Given the description of an element on the screen output the (x, y) to click on. 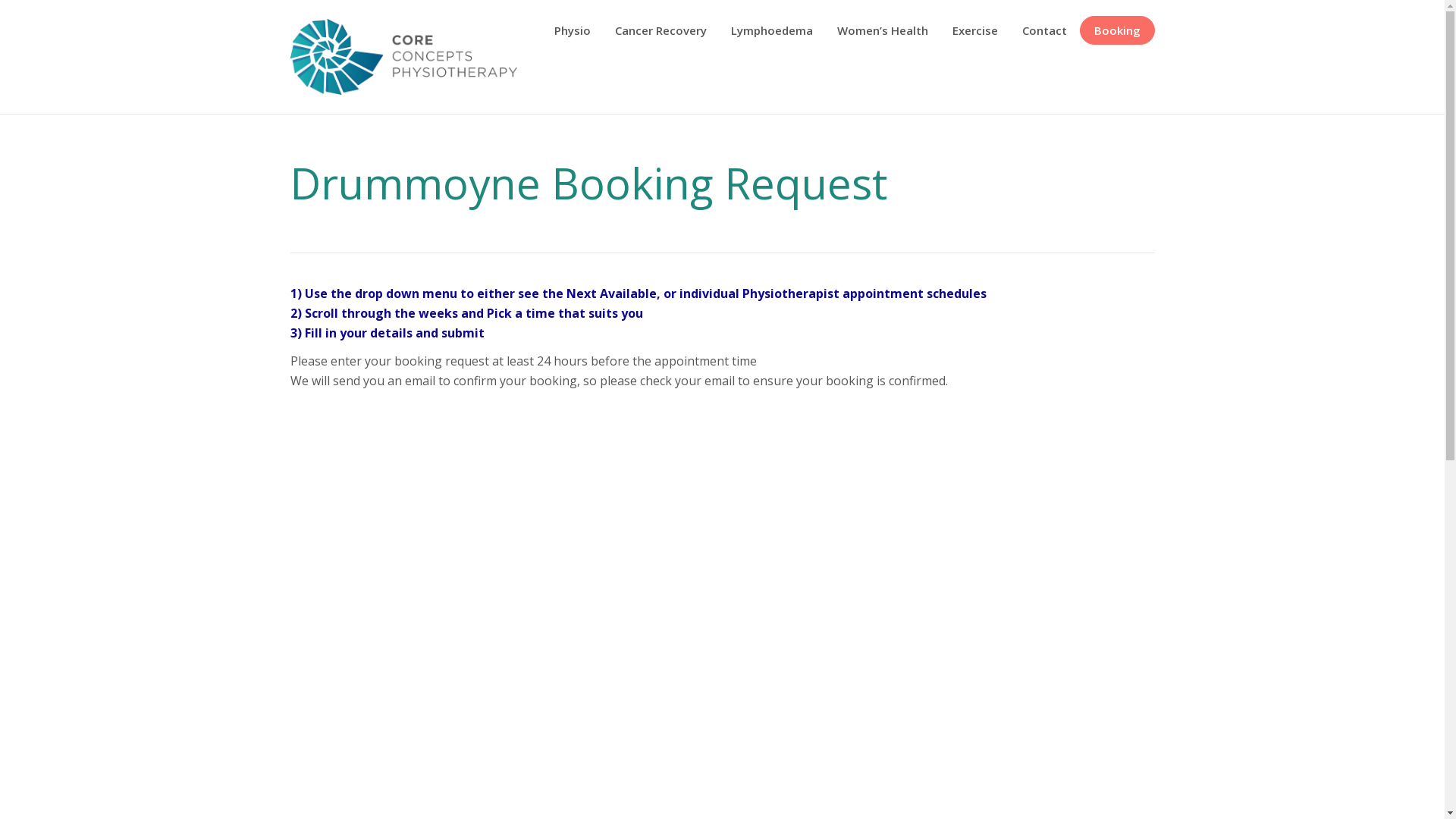
Exercise Element type: text (974, 30)
Lymphoedema Element type: text (771, 30)
Booking Element type: text (1116, 29)
Contact Element type: text (1044, 30)
Physio Element type: text (571, 30)
Cancer Recovery Element type: text (660, 30)
